Given the description of an element on the screen output the (x, y) to click on. 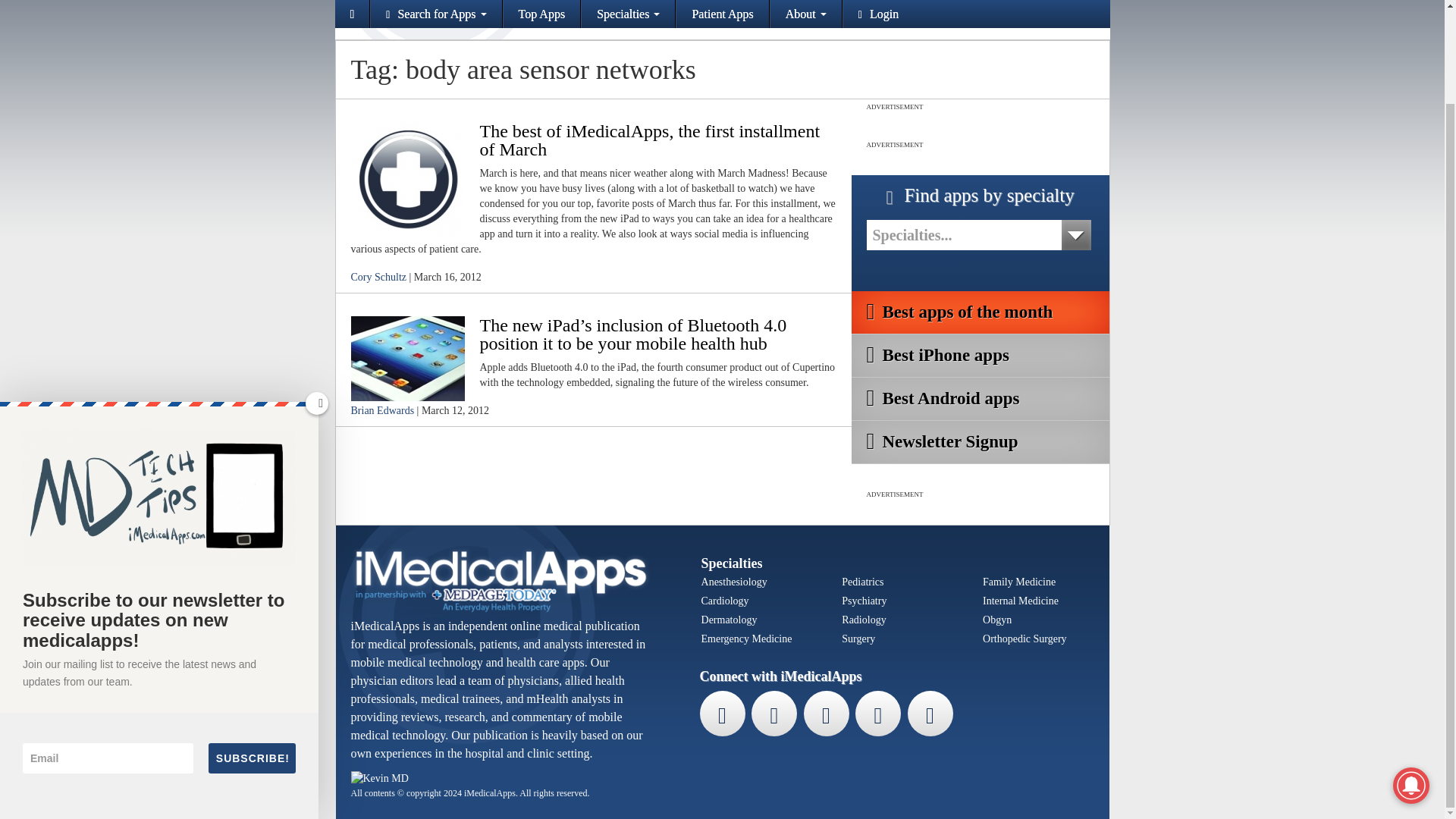
The best of iMedicalApps, the first installment of March (649, 139)
The best of iMedicalApps, the first installment of March (407, 177)
